Given the description of an element on the screen output the (x, y) to click on. 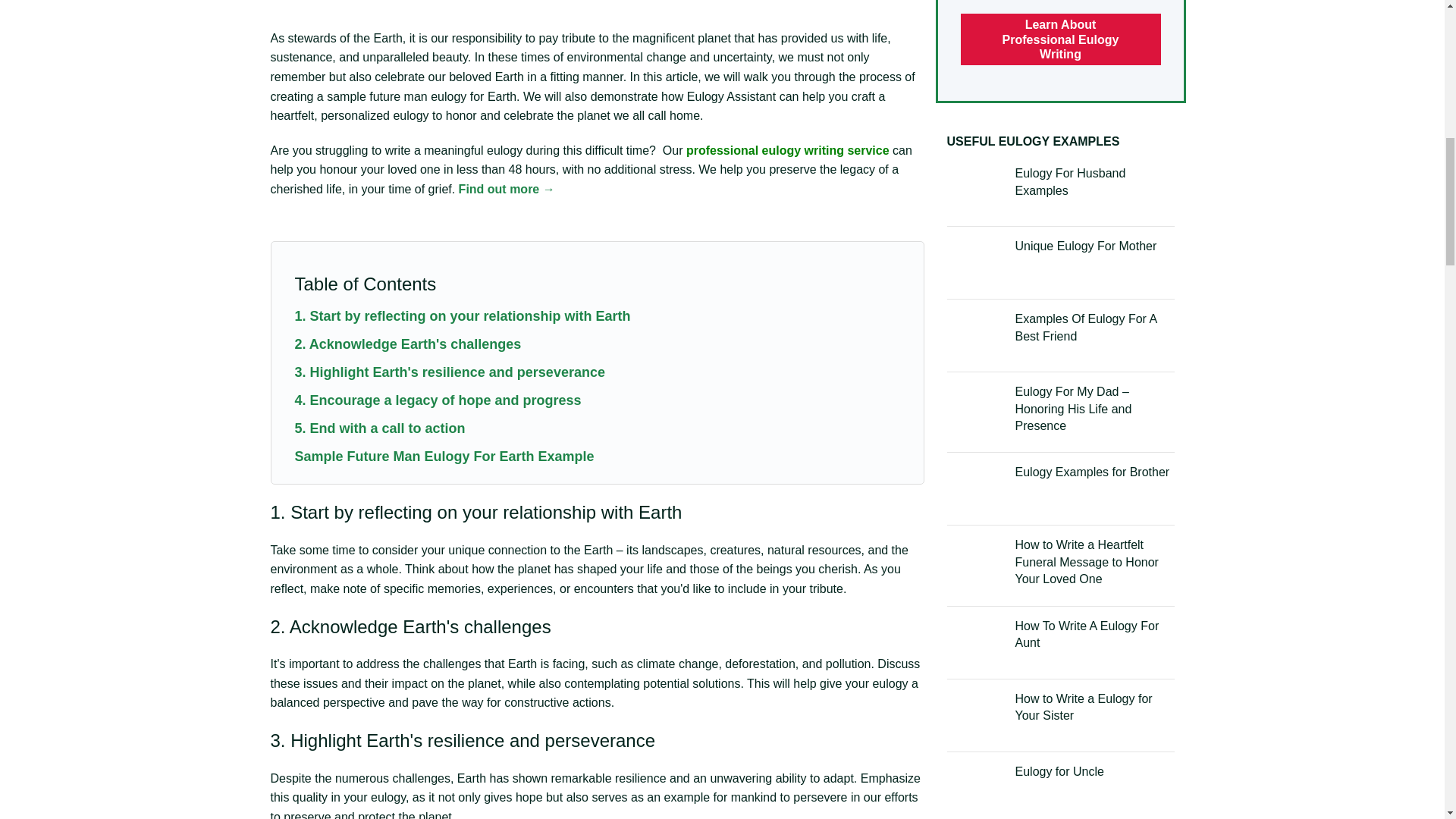
Permalink to Examples Of Eulogy For A Best Friend (1085, 327)
Permalink to Eulogy Examples for Brother (1091, 472)
Eulogy Assistant (731, 96)
Permalink to Unique Eulogy For Mother (1085, 245)
Permalink to How to Write a Eulogy for Your Sister (1082, 706)
professional eulogy writing service (787, 150)
2. Acknowledge Earth's challenges (407, 344)
Permalink to How To Write A Eulogy For Aunt (1086, 634)
Permalink to Eulogy For Husband Examples (1069, 181)
1. Start by reflecting on your relationship with Earth (462, 315)
